Given the description of an element on the screen output the (x, y) to click on. 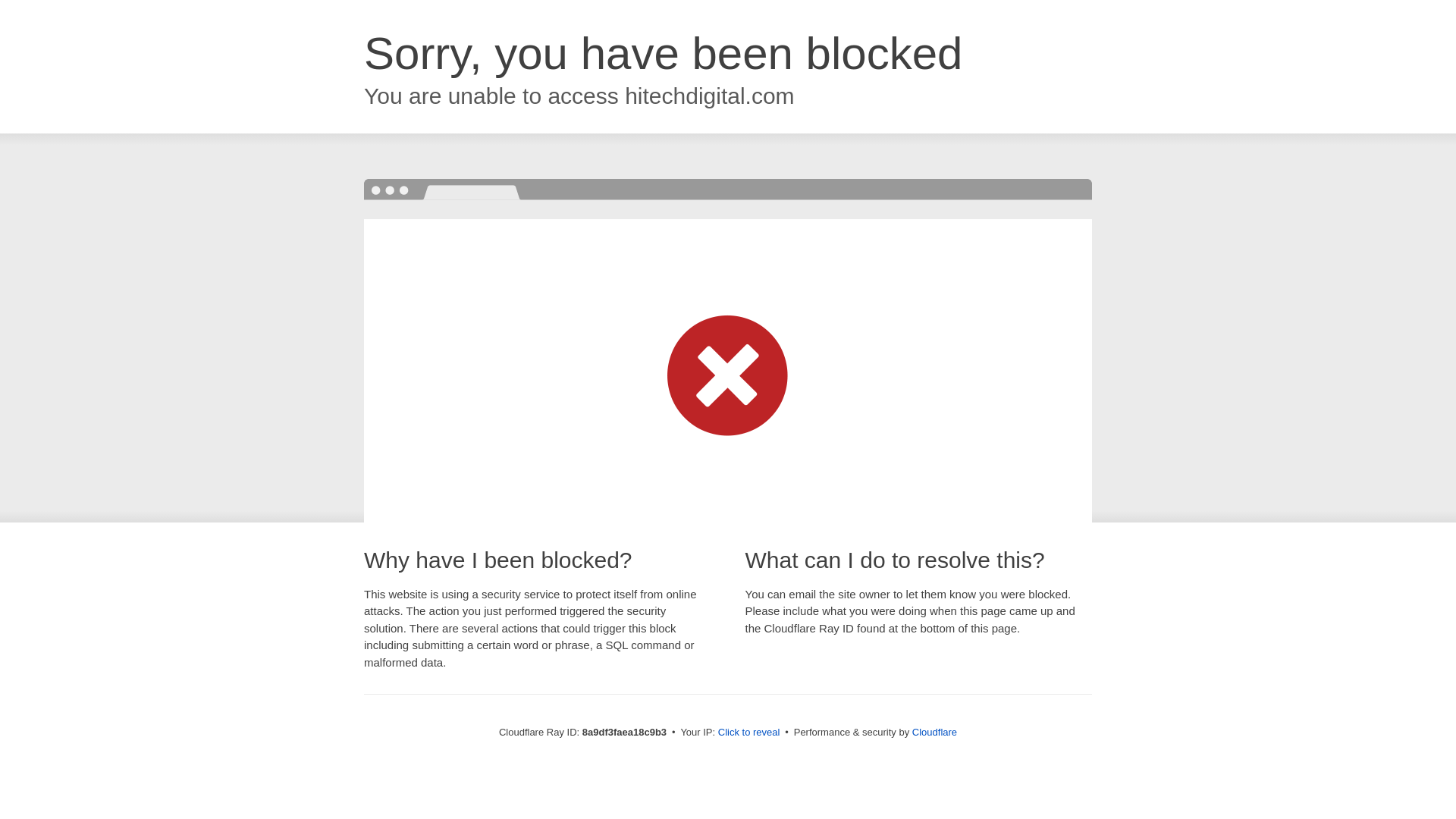
Click to reveal (748, 732)
Cloudflare (934, 731)
